Given the description of an element on the screen output the (x, y) to click on. 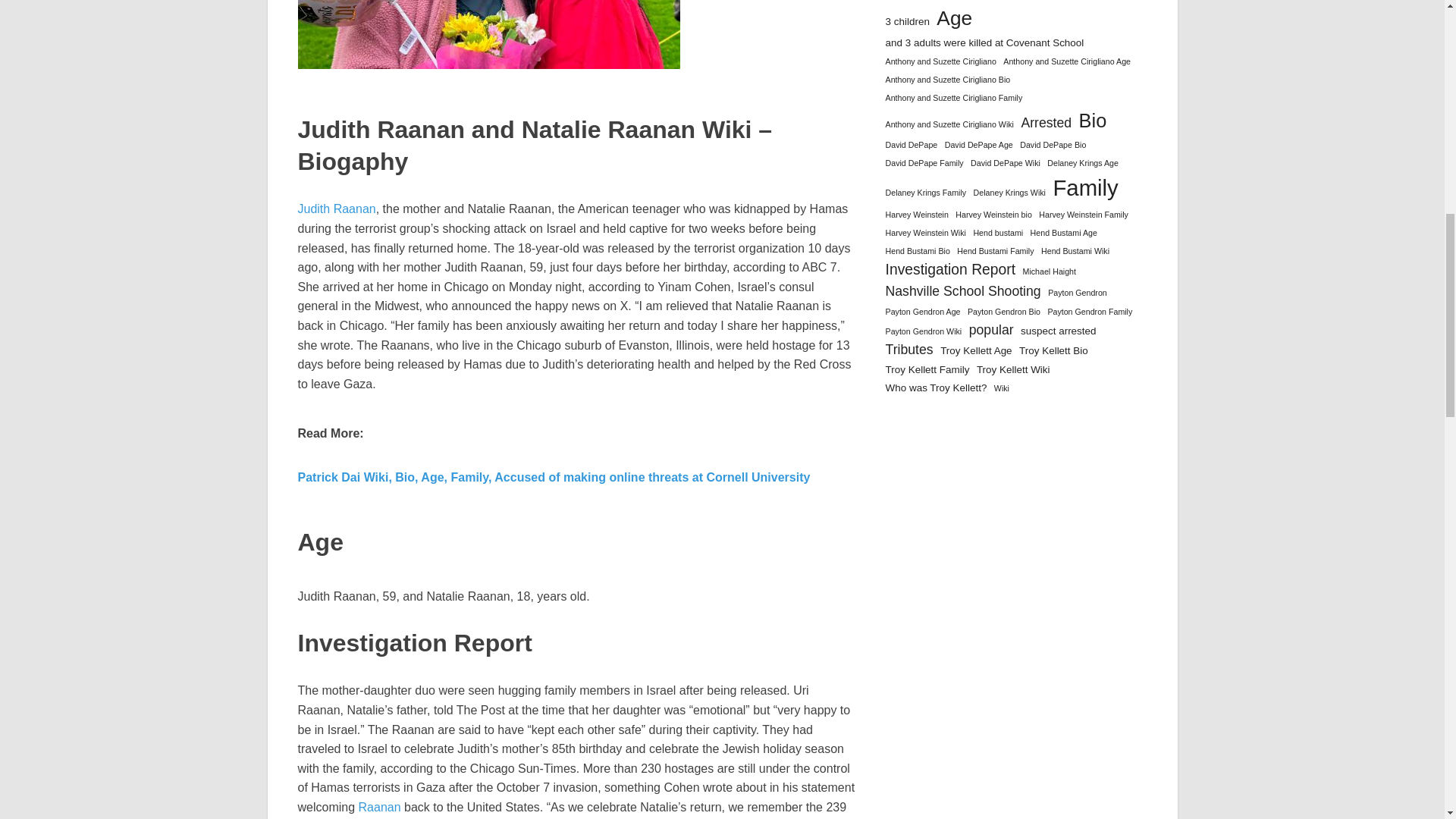
Raanan (379, 807)
Judith Raanan (336, 208)
